Given the description of an element on the screen output the (x, y) to click on. 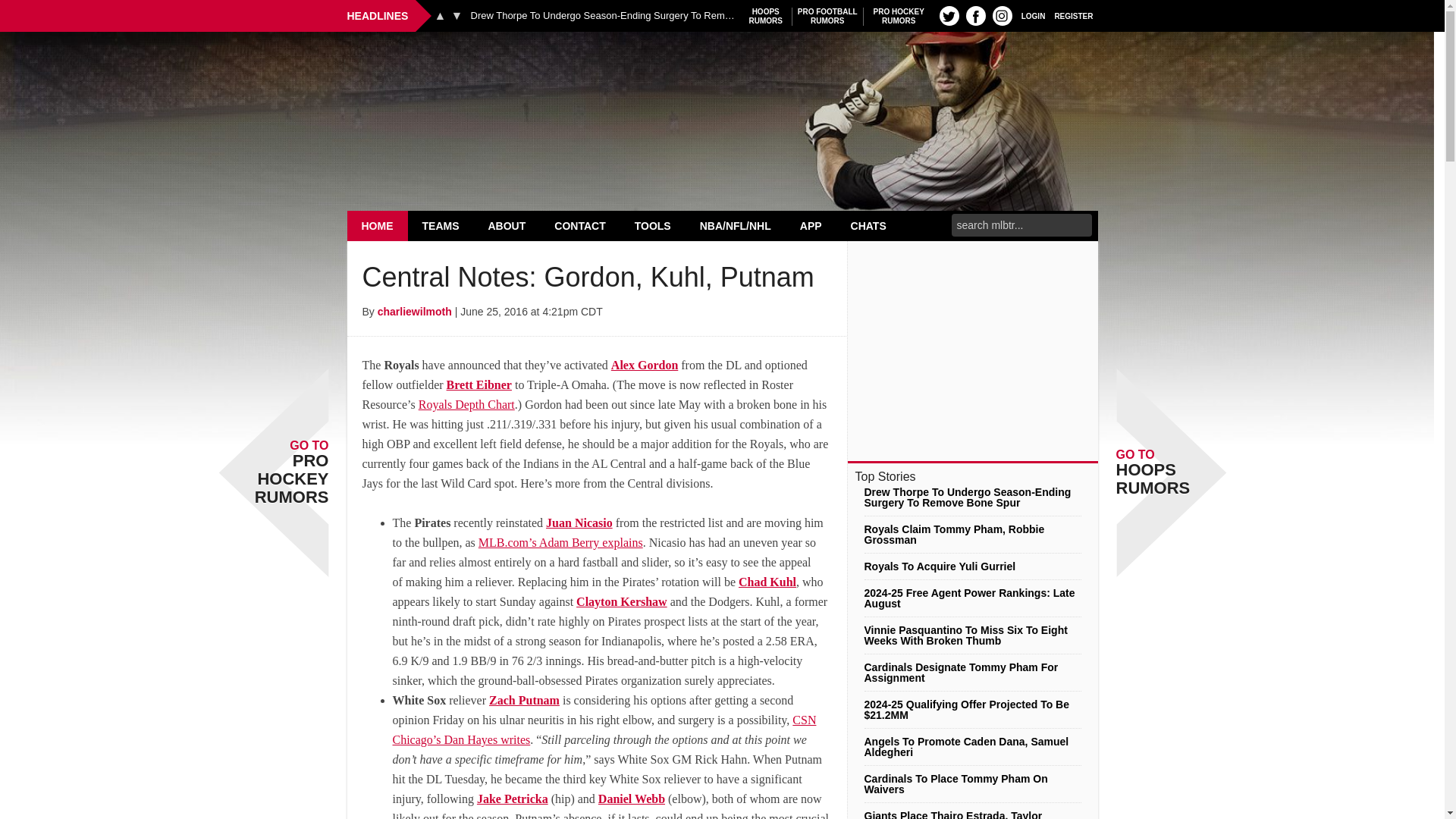
Previous (439, 15)
Twitter profile (949, 15)
LOGIN (898, 16)
MLB Trade Rumors (1032, 15)
Search (827, 16)
HOME (722, 69)
